Given the description of an element on the screen output the (x, y) to click on. 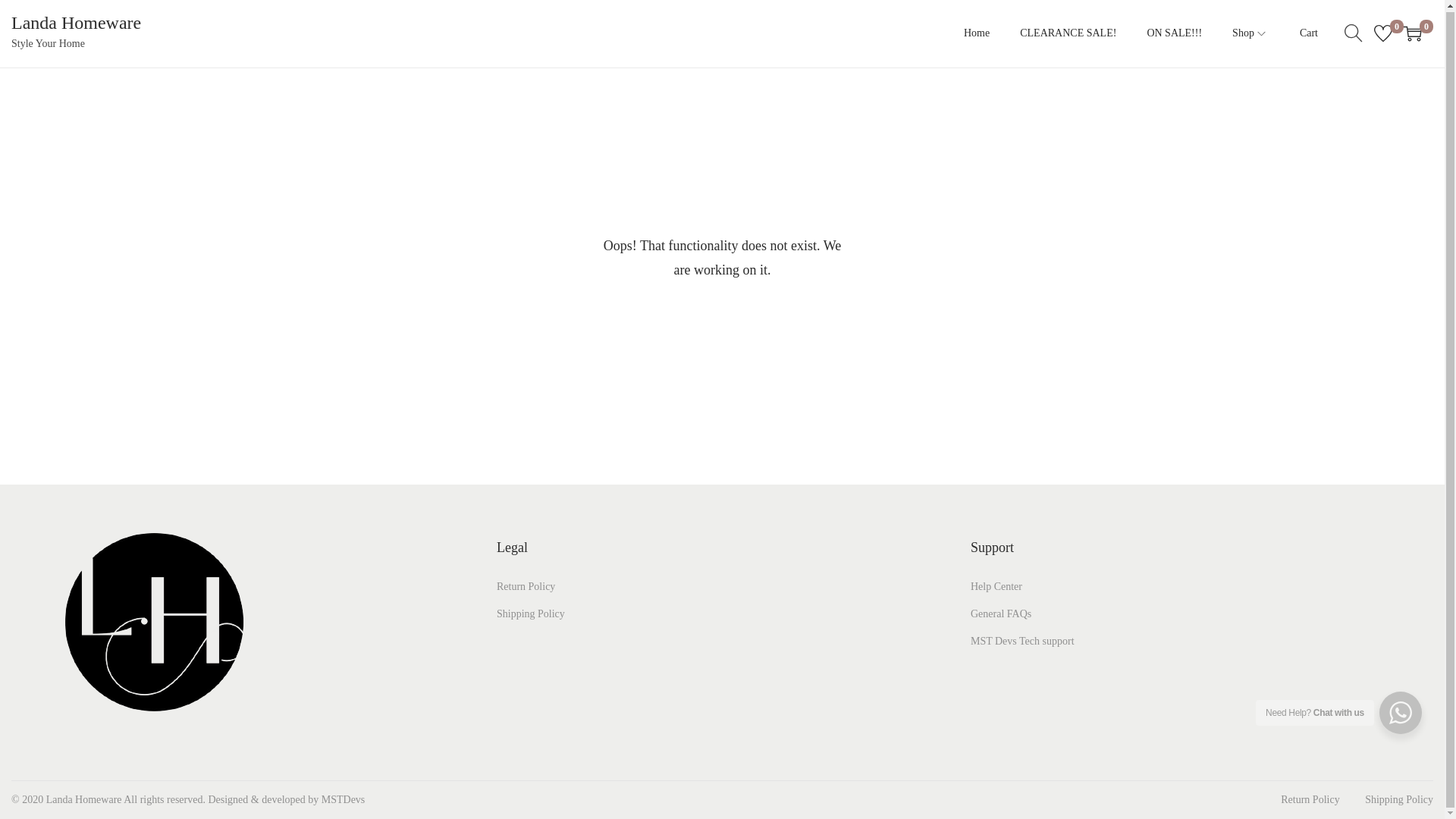
0 (1382, 33)
Help Center (996, 586)
Shipping Policy (530, 613)
Return Policy (1310, 799)
MSTDevs (343, 799)
0 (1412, 33)
General FAQs (1000, 613)
Landa Homeware (76, 22)
MST Devs Tech support (1022, 641)
CLEARANCE SALE! (1068, 33)
Return Policy (525, 586)
Shipping Policy (1398, 799)
